Given the description of an element on the screen output the (x, y) to click on. 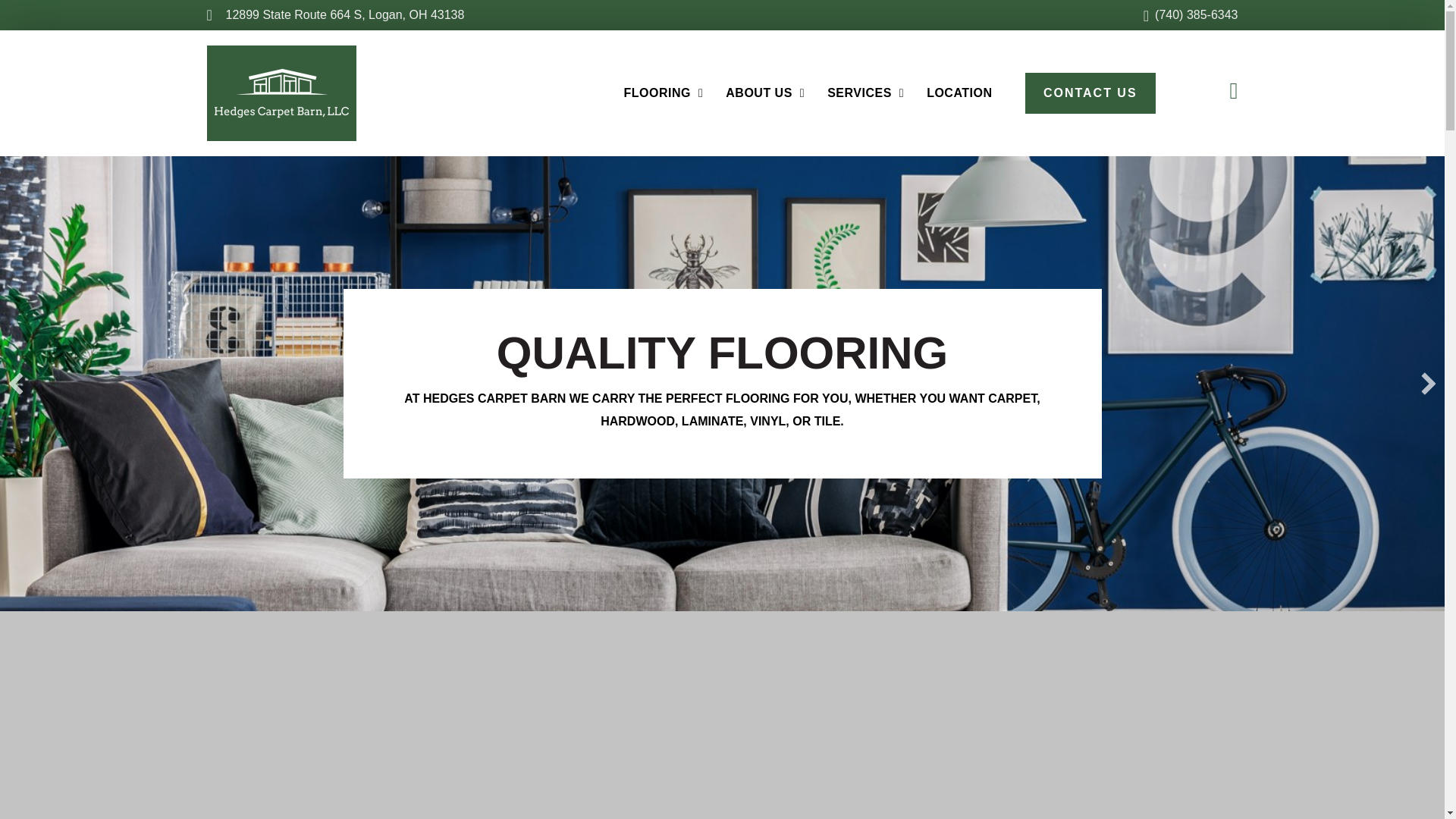
FLOORING (662, 93)
hdgstbr1 (280, 93)
12899 State Route 664 S, Logan, OH 43138 (335, 15)
ABOUT US (764, 93)
